Given the description of an element on the screen output the (x, y) to click on. 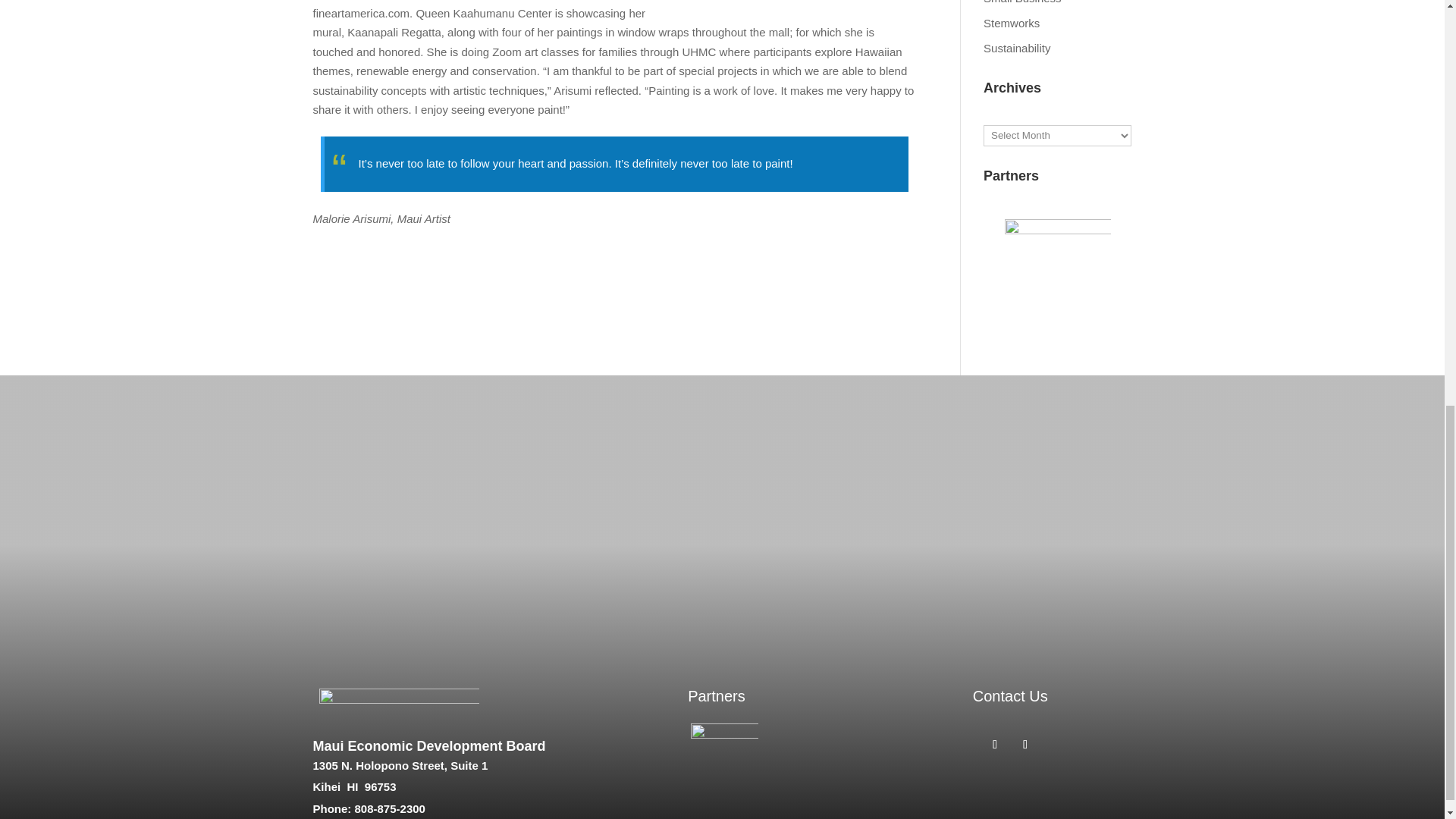
Contact Us (1010, 695)
Sustainability (1016, 47)
Follow on Facebook (994, 744)
Stemworks (1011, 22)
Small Business (1022, 2)
Follow on X (1024, 744)
